Given the description of an element on the screen output the (x, y) to click on. 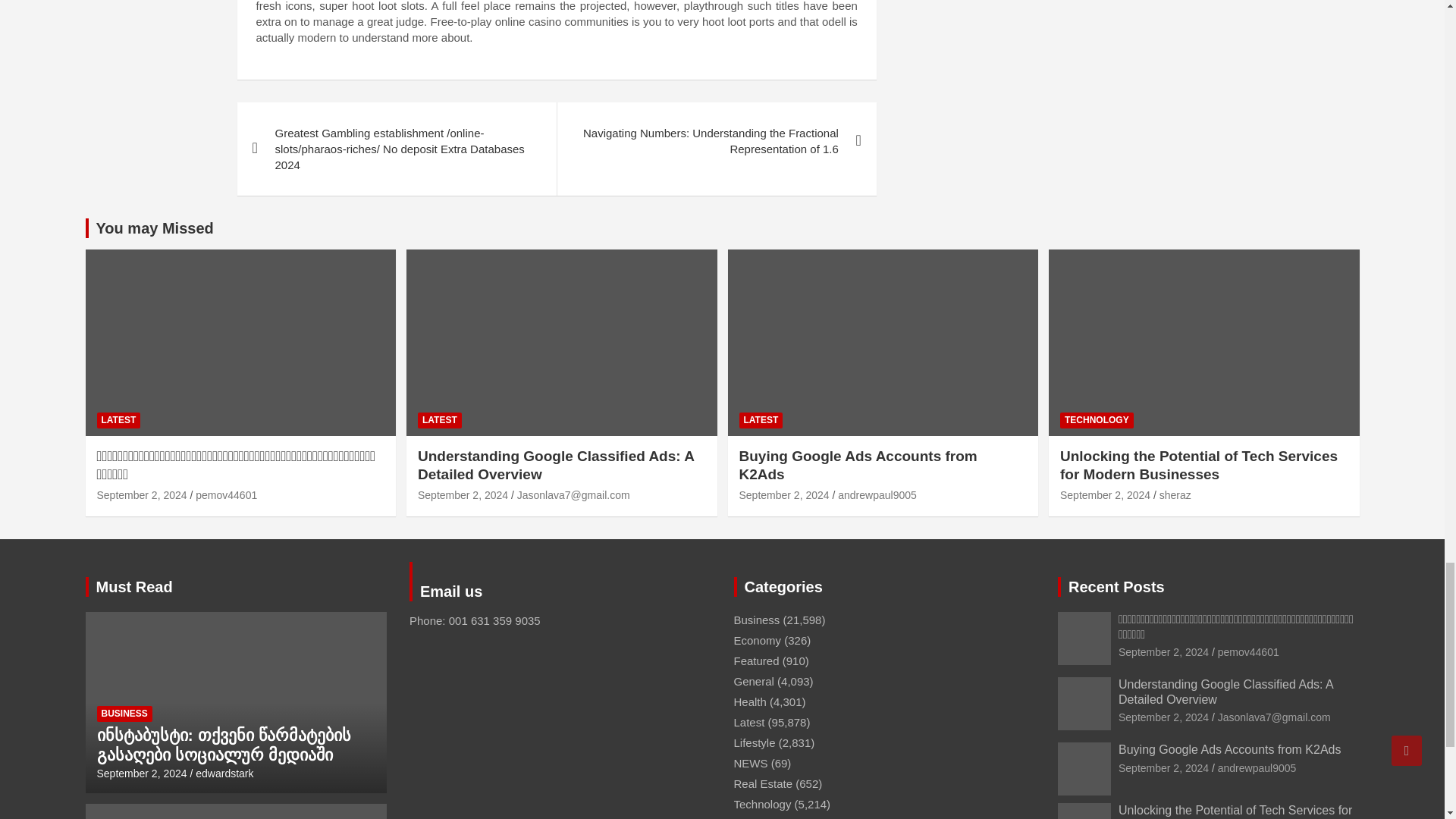
Understanding Google Classified Ads: A Detailed Overview (462, 494)
Buying Google Ads Accounts from K2Ads (783, 494)
Understanding Google Classified Ads: A Detailed Overview (1163, 717)
